Given the description of an element on the screen output the (x, y) to click on. 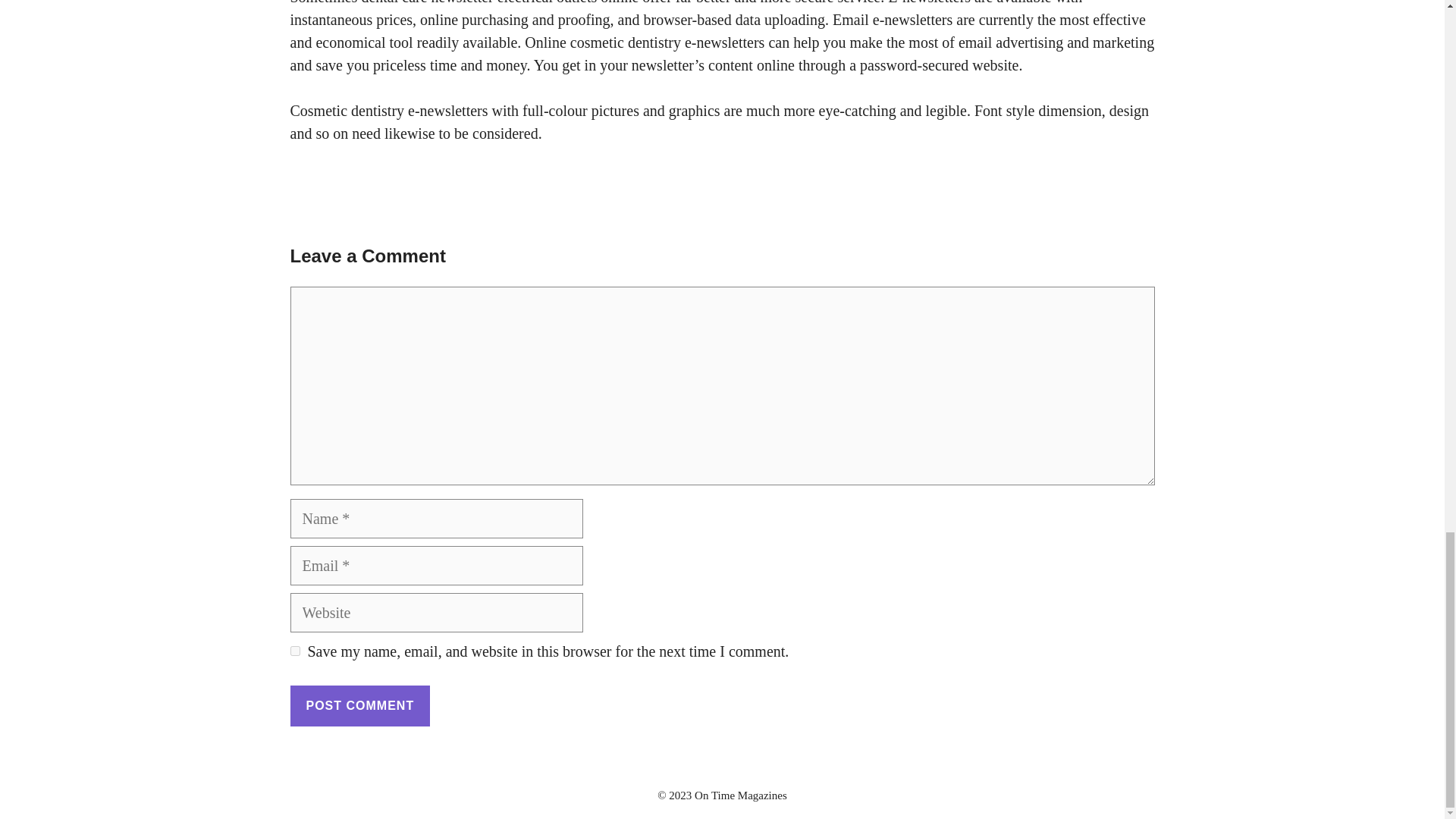
yes (294, 651)
Post Comment (359, 705)
Post Comment (359, 705)
